Given the description of an element on the screen output the (x, y) to click on. 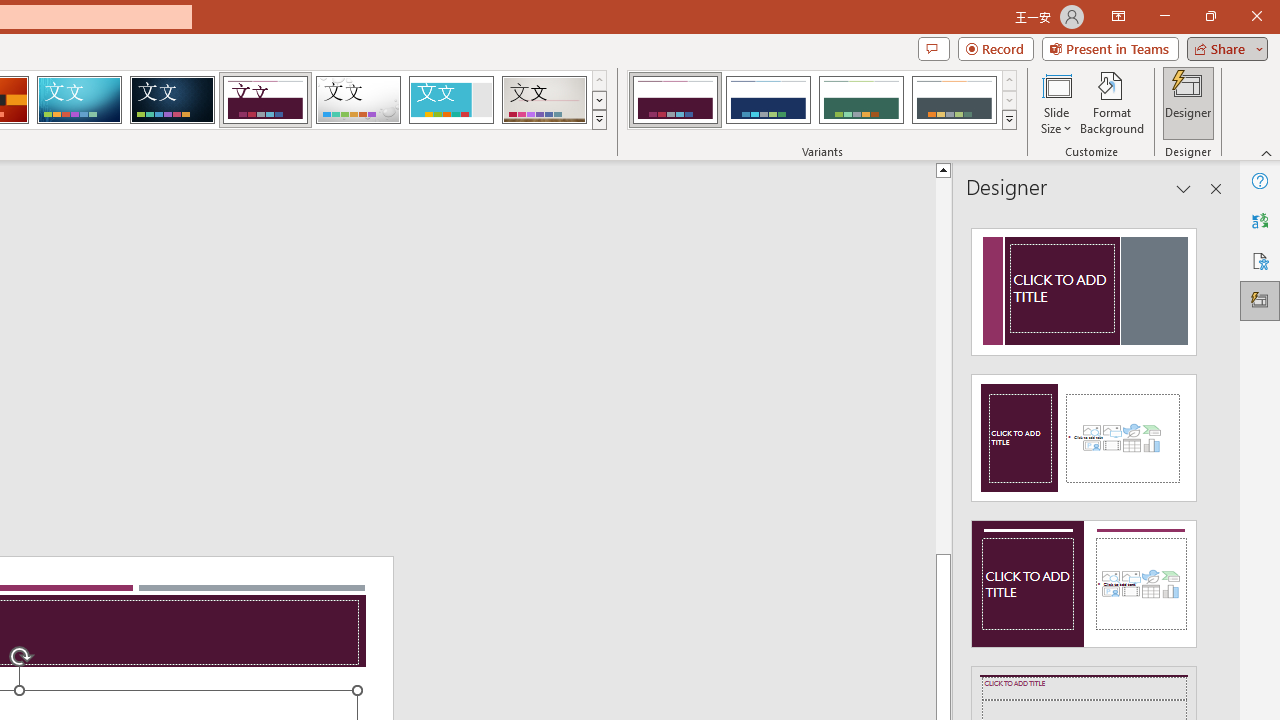
Dividend Variant 3 (861, 100)
Dividend (265, 100)
Frame (450, 100)
Damask (171, 100)
Droplet (358, 100)
Dividend Variant 2 (768, 100)
